Given the description of an element on the screen output the (x, y) to click on. 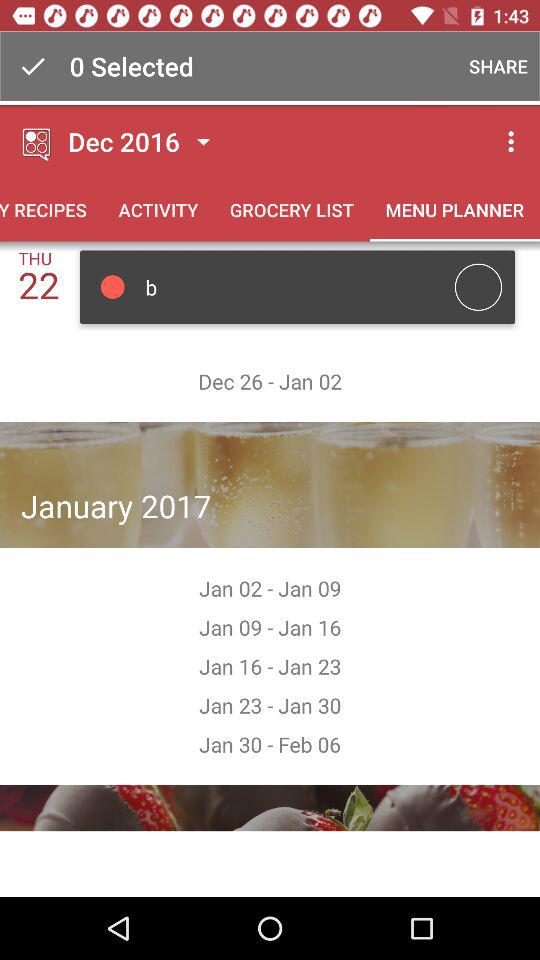
click the icon on left to the button dec 2016 on the web page (37, 141)
click the three dots button above the tab menu planner on the web page (514, 141)
click ob b below activity (297, 287)
click on the box below activity at the top of the page (297, 287)
click on the button which is next to the dec 2016 (203, 141)
click on share which is at top right corner of the page (496, 65)
